Given the description of an element on the screen output the (x, y) to click on. 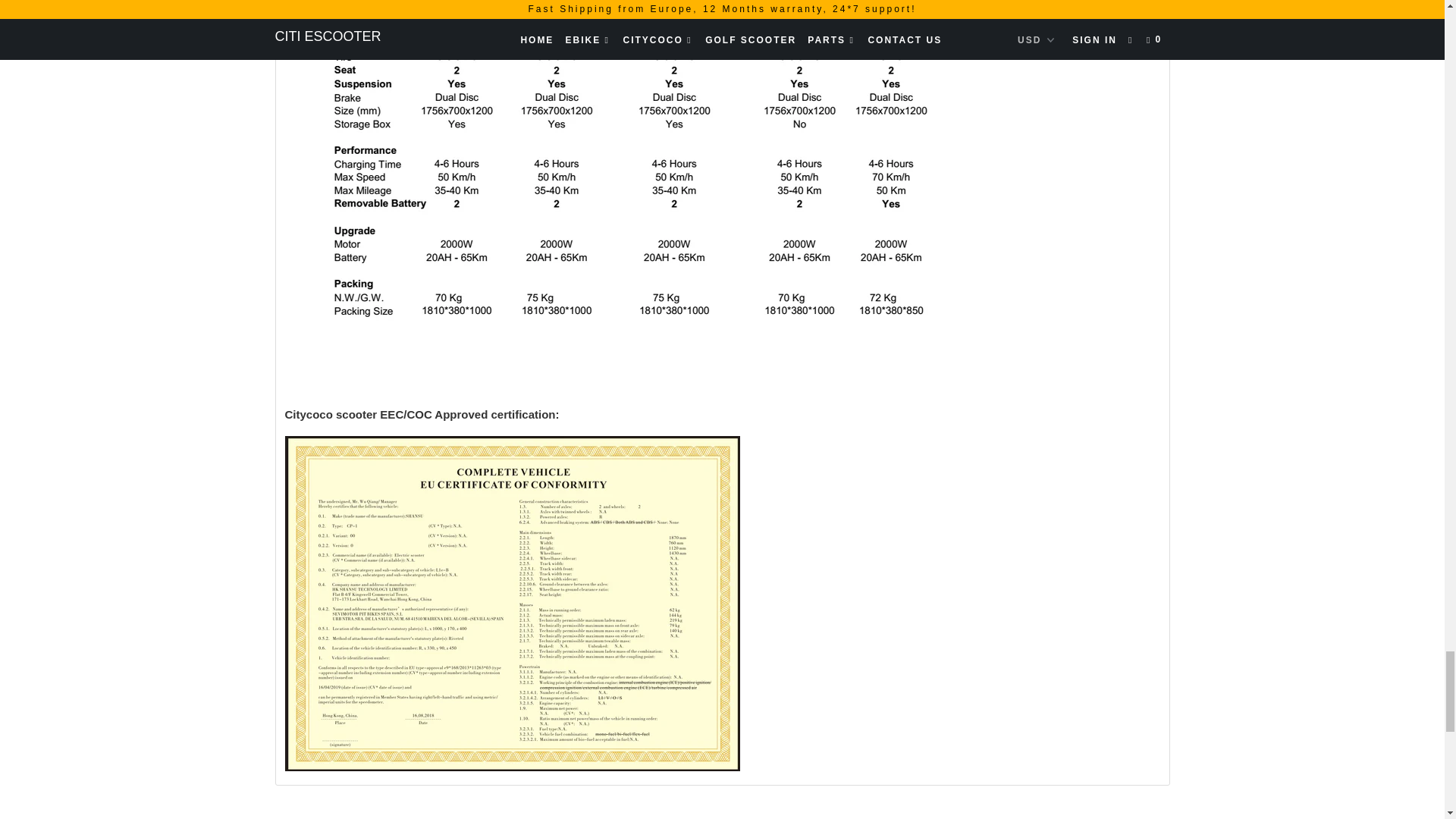
Citycoco scooter (673, 361)
